Given the description of an element on the screen output the (x, y) to click on. 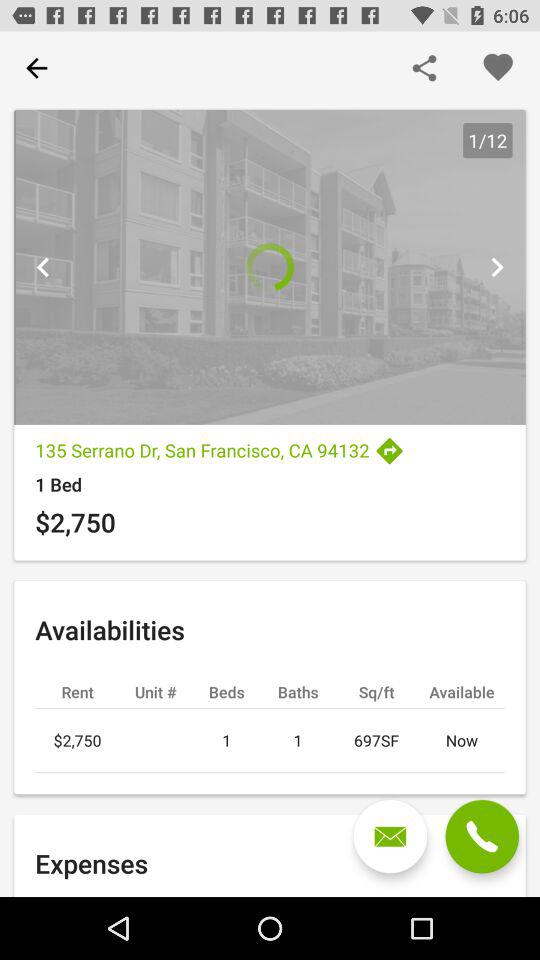
send mail (389, 836)
